Given the description of an element on the screen output the (x, y) to click on. 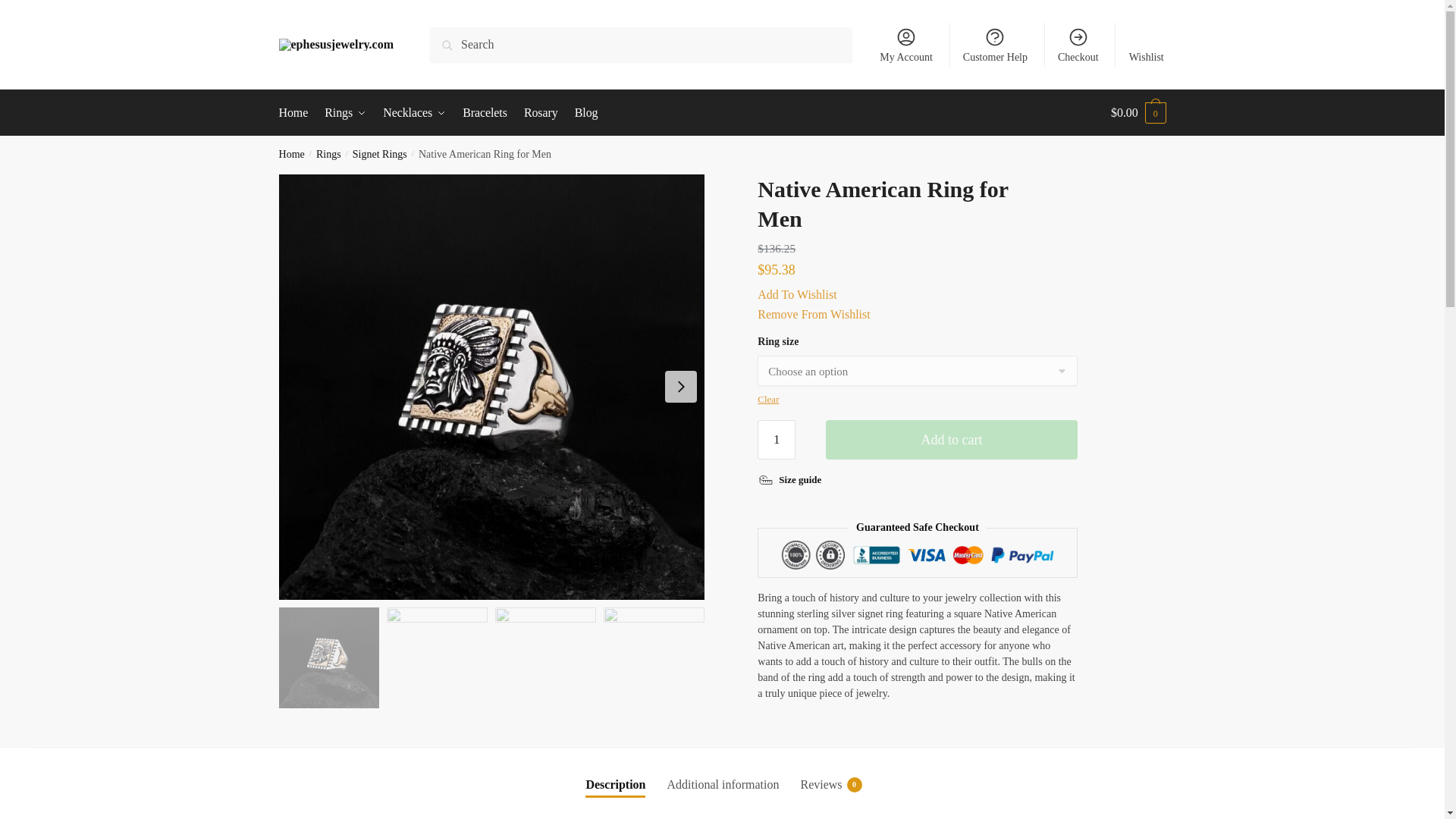
Checkout (1078, 44)
Rosary (540, 112)
Rings (345, 112)
Rings (327, 153)
Home (291, 153)
Search (450, 37)
1 (775, 439)
My Account (906, 44)
Bracelets (484, 112)
